Given the description of an element on the screen output the (x, y) to click on. 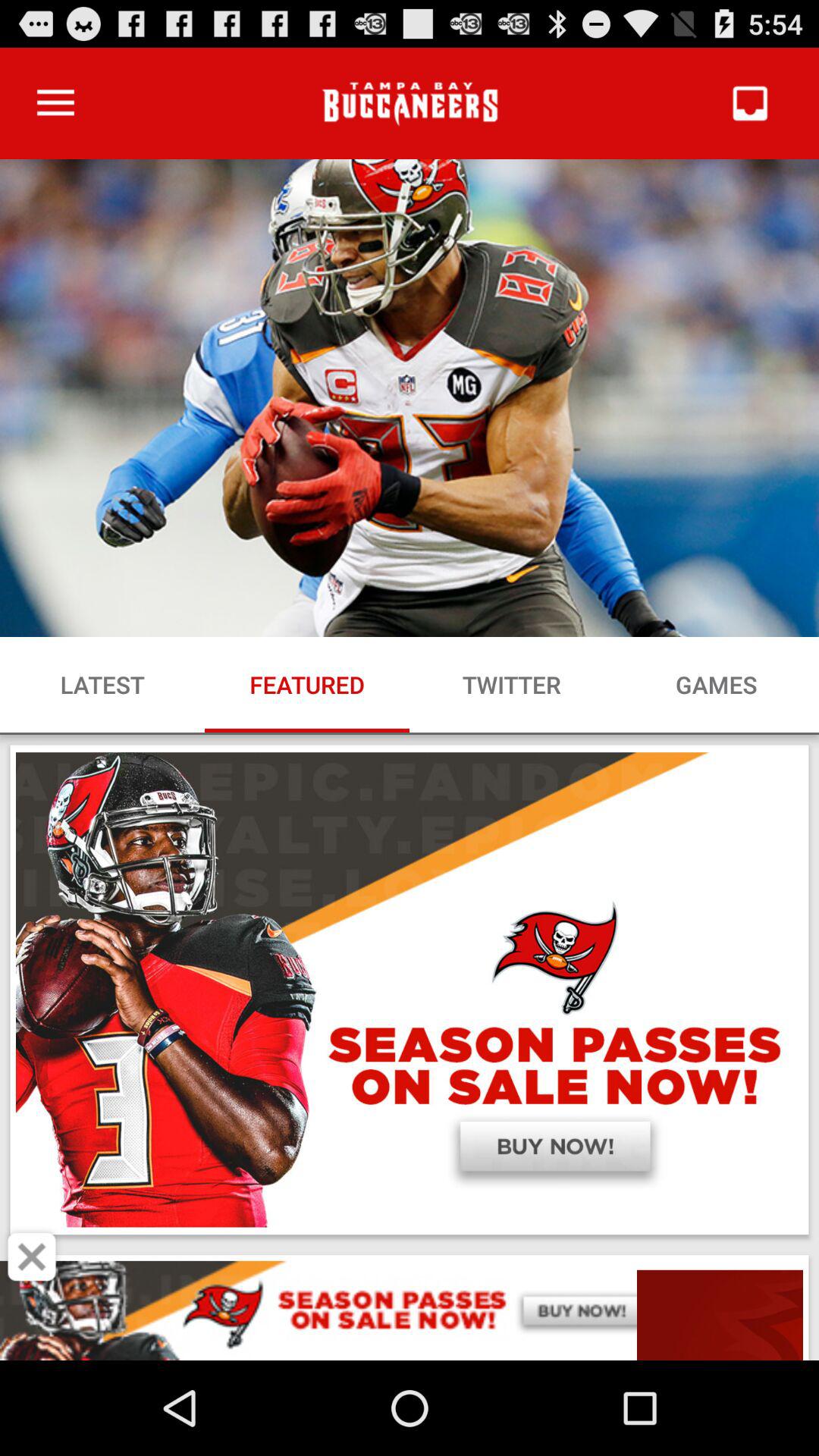
open the googleads (409, 1310)
